Given the description of an element on the screen output the (x, y) to click on. 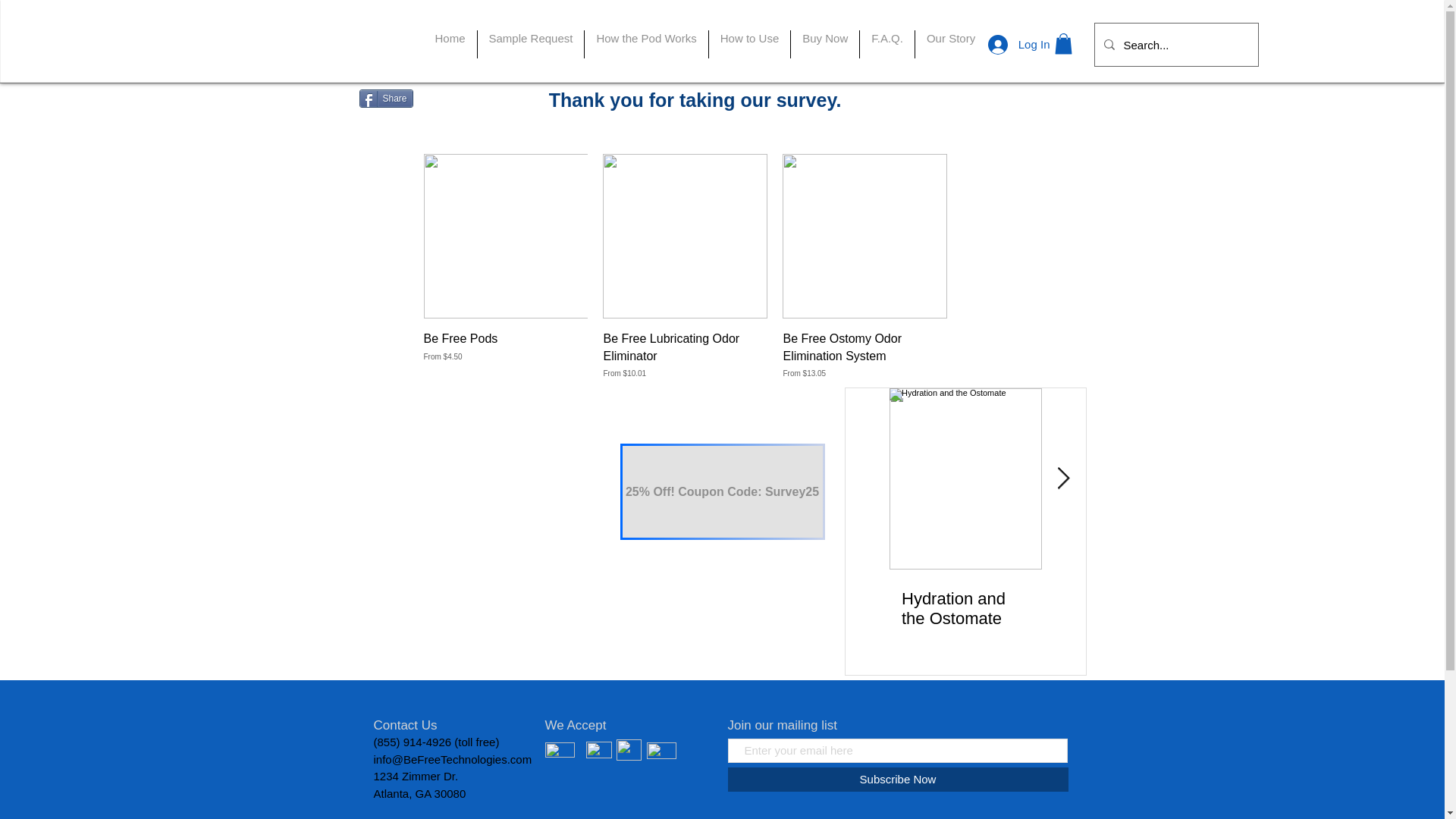
Hydration and the Ostomate (965, 608)
Buy Now (824, 44)
Facebook Like (453, 131)
Share (386, 98)
Home (449, 44)
Quick Resource Guide for New Ostomates (1118, 618)
Our Story (951, 44)
How to Use (749, 44)
Share (386, 98)
F.A.Q. (887, 44)
